Given the description of an element on the screen output the (x, y) to click on. 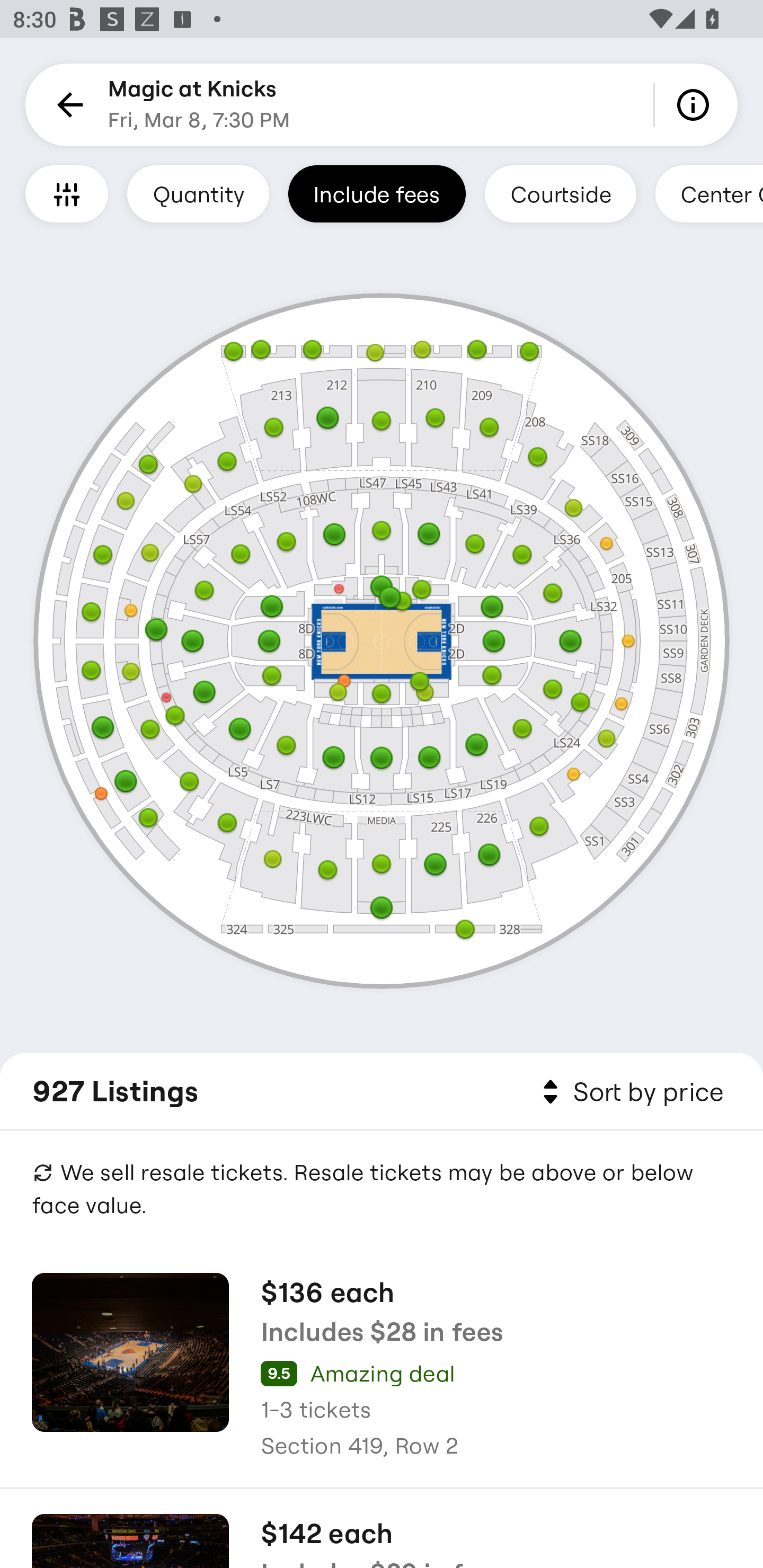
Back (66, 104)
Magic at Knicks Fri, Mar 8, 7:30 PM (198, 104)
Info (695, 104)
Filters and Accessible Seating (66, 193)
Quantity (198, 193)
Include fees (376, 193)
Courtside (560, 193)
Sort by price (629, 1091)
